Given the description of an element on the screen output the (x, y) to click on. 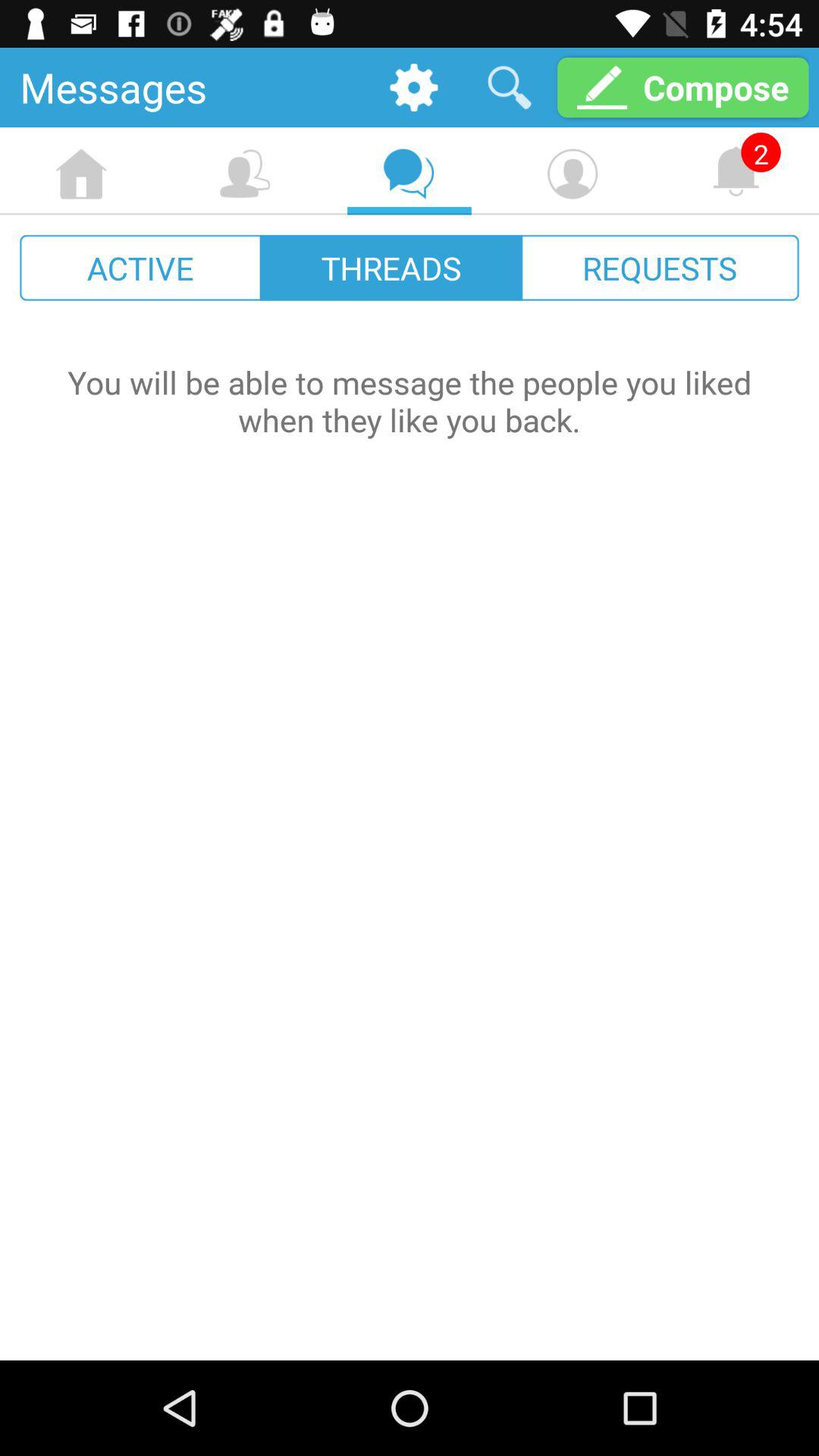
swipe until the compose item (682, 87)
